Given the description of an element on the screen output the (x, y) to click on. 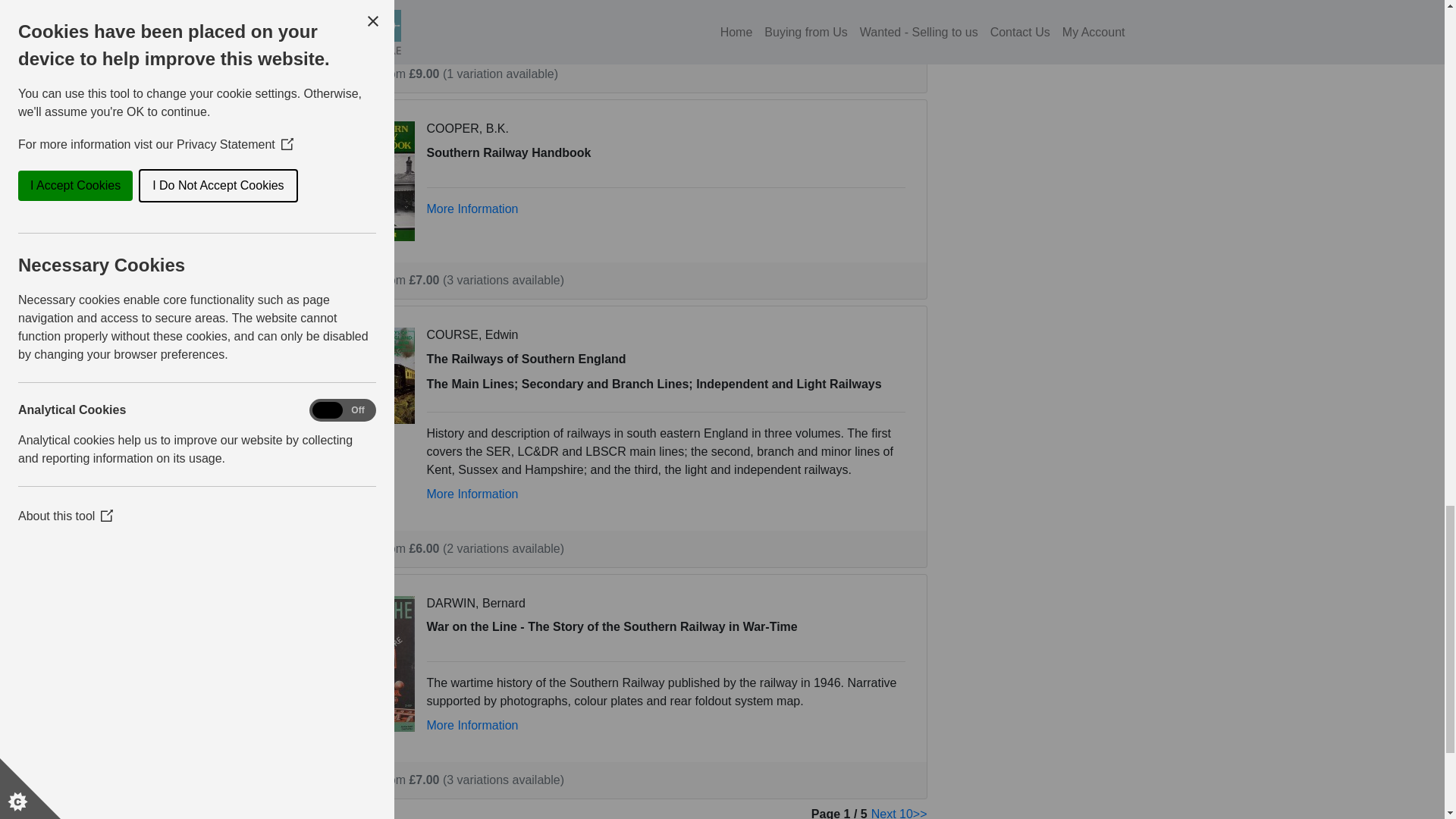
Southern Railway Handbook  by COOPER, B.K.  (368, 180)
The Railways of Southern England  by COURSE, Edwin  (368, 374)
